Given the description of an element on the screen output the (x, y) to click on. 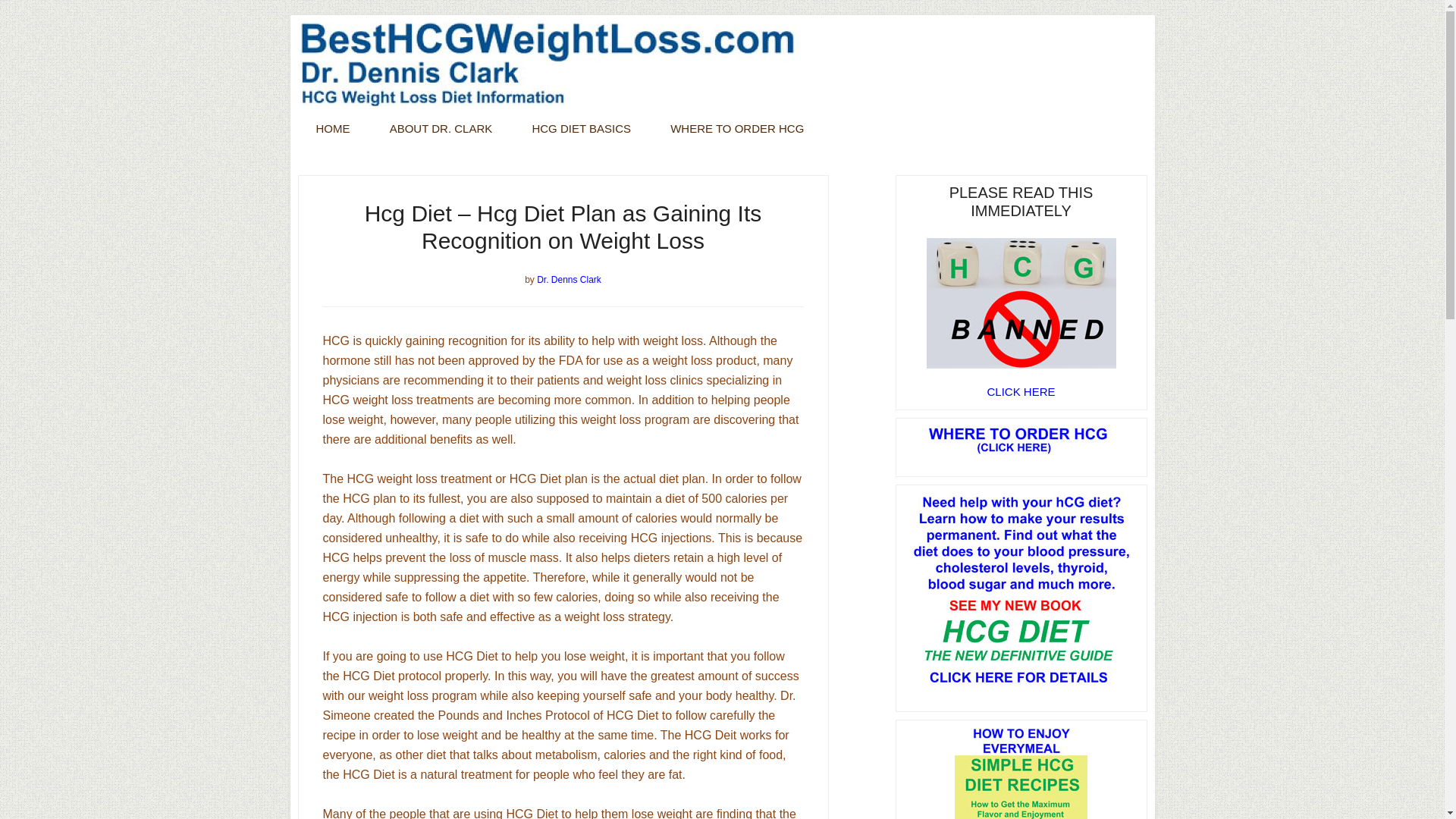
Dr. Denns Clark (569, 279)
HOME (332, 128)
HCG DIET BASICS (581, 128)
ABOUT DR. CLARK (441, 128)
WHERE TO ORDER HCG (737, 128)
